Given the description of an element on the screen output the (x, y) to click on. 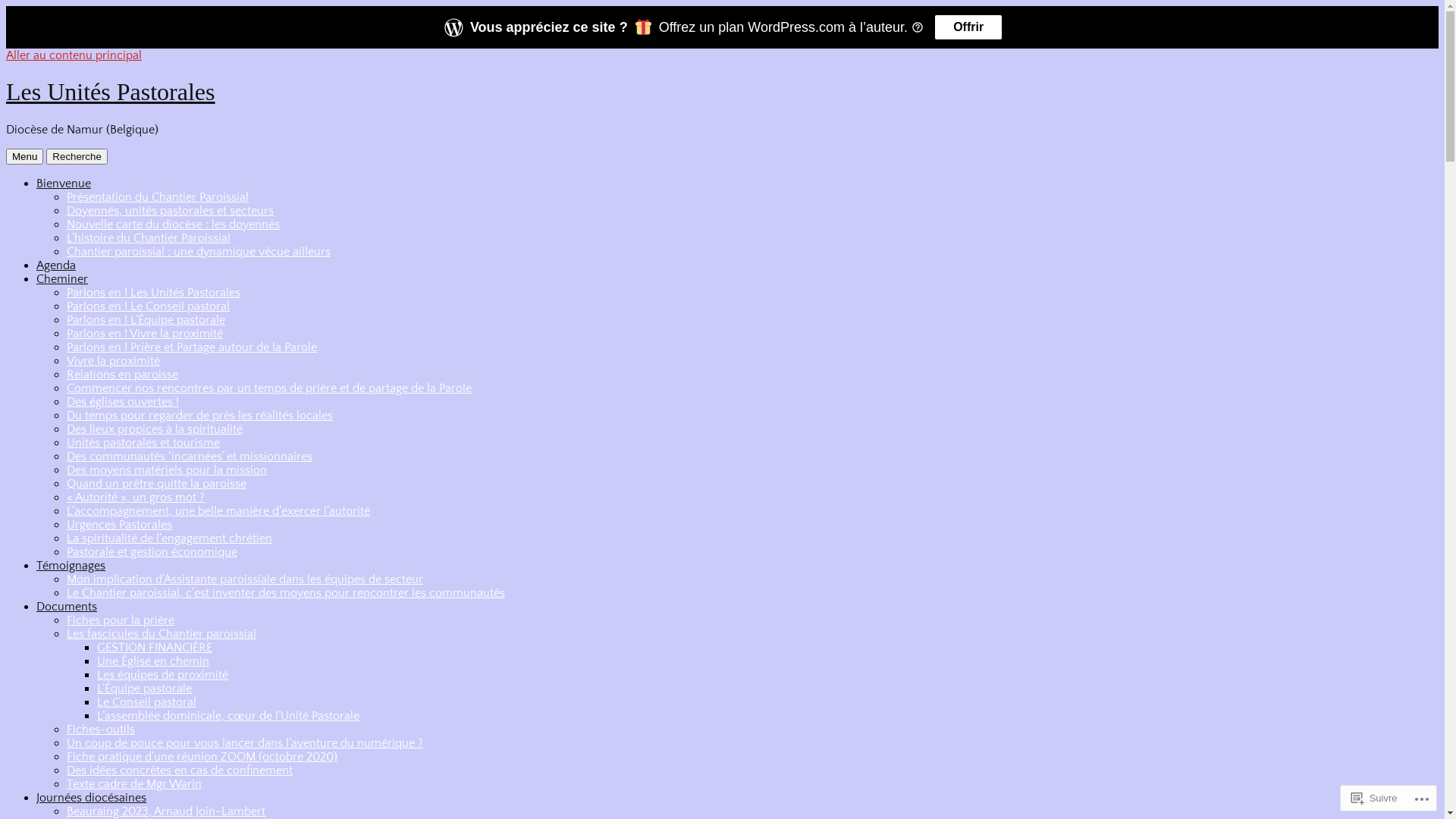
Beauraing 2023, Arnaud Join-Lambert Element type: text (165, 811)
Documents Element type: text (66, 606)
Recherche Element type: text (76, 156)
Urgences Pastorales Element type: text (119, 524)
Fiches-outils Element type: text (100, 729)
Le Conseil pastoral Element type: text (146, 702)
Offrir Element type: text (968, 27)
Cheminer Element type: text (61, 278)
Menu Element type: text (24, 156)
Suivre Element type: text (1374, 797)
Aller au contenu principal Element type: text (73, 55)
Agenda Element type: text (55, 265)
Les fascicules du Chantier paroissial Element type: text (161, 633)
Relations en paroisse Element type: text (122, 374)
Bienvenue Element type: text (63, 183)
Texte cadre de Mgr Warin Element type: text (133, 783)
Parlons en ! Le Conseil pastoral Element type: text (147, 306)
